Given the description of an element on the screen output the (x, y) to click on. 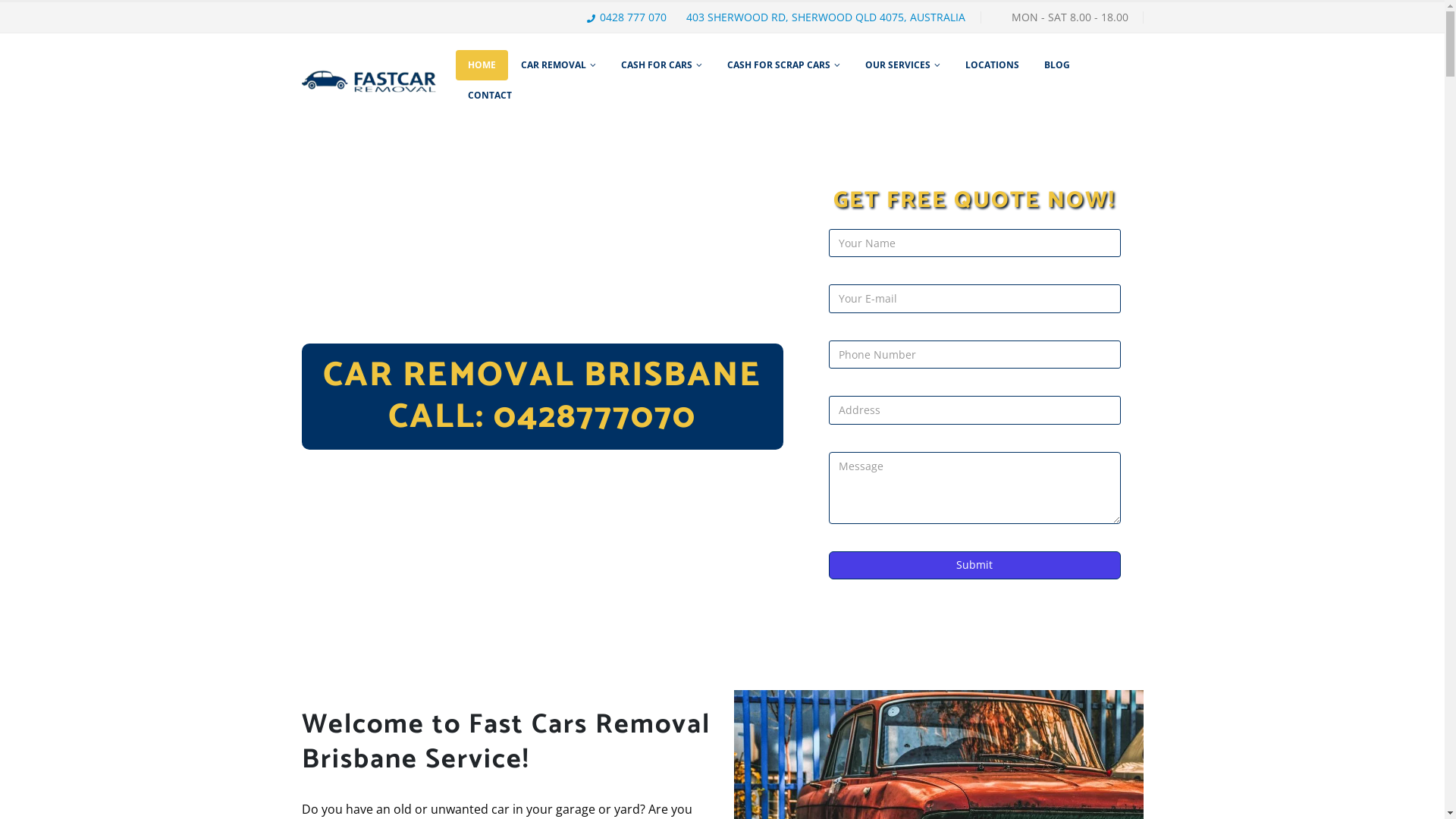
LOCATIONS Element type: text (992, 65)
0428 777 070 Element type: text (630, 17)
HOME Element type: text (481, 65)
CONTACT Element type: text (489, 95)
CASH FOR CARS Element type: text (661, 65)
403 SHERWOOD RD, SHERWOOD QLD 4075, AUSTRALIA Element type: text (822, 17)
Submit Element type: text (974, 565)
CASH FOR SCRAP CARS Element type: text (783, 65)
CAR REMOVAL Element type: text (558, 65)
BLOG Element type: text (1057, 65)
Fast Cars Removal - Top Cash For Cars Removal Brisbane Element type: hover (369, 80)
OUR SERVICES Element type: text (902, 65)
